Given the description of an element on the screen output the (x, y) to click on. 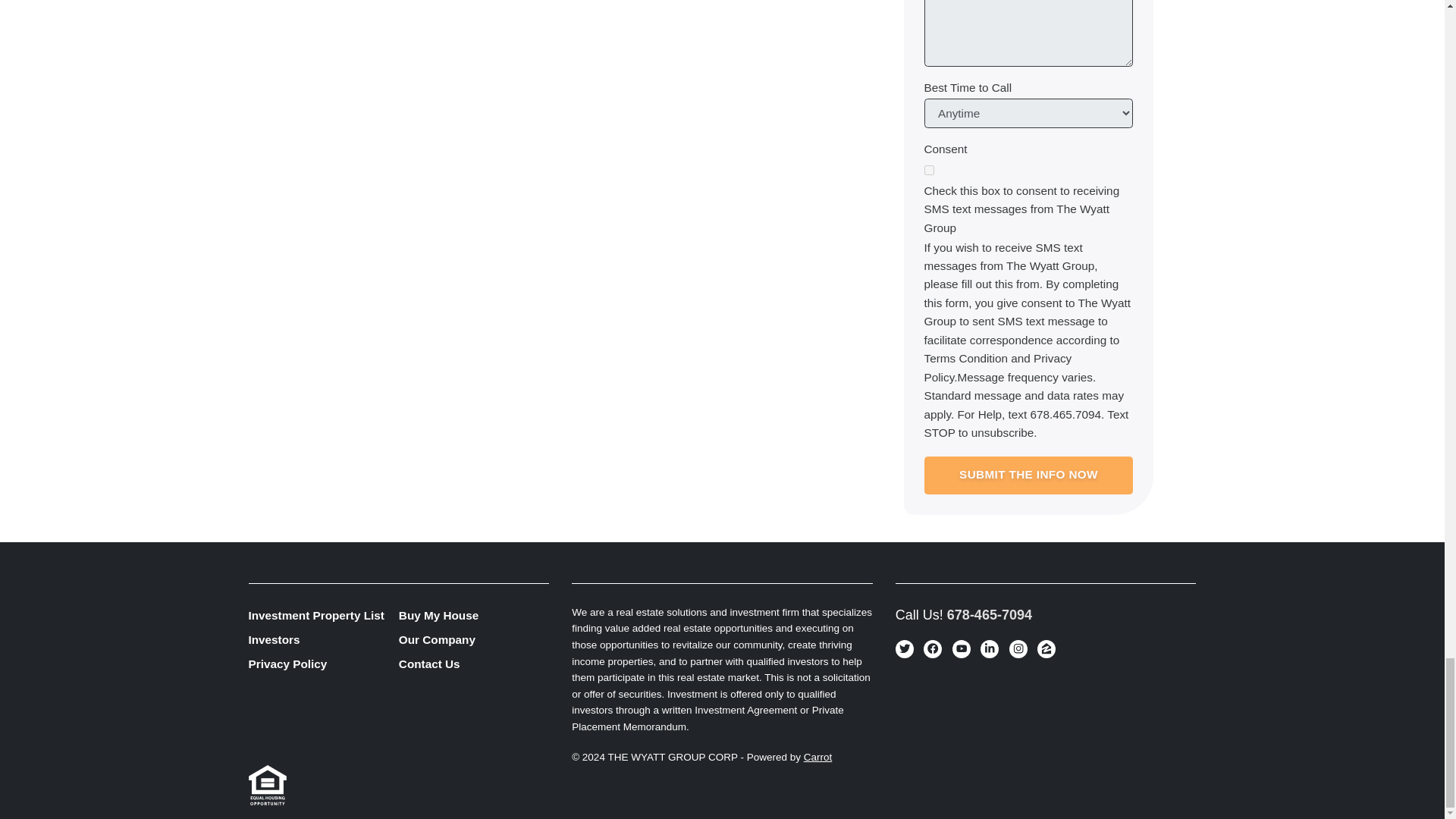
Submit The Info Now (1027, 475)
Investment Property List (323, 616)
Investors (323, 639)
Buy My House (473, 616)
